Given the description of an element on the screen output the (x, y) to click on. 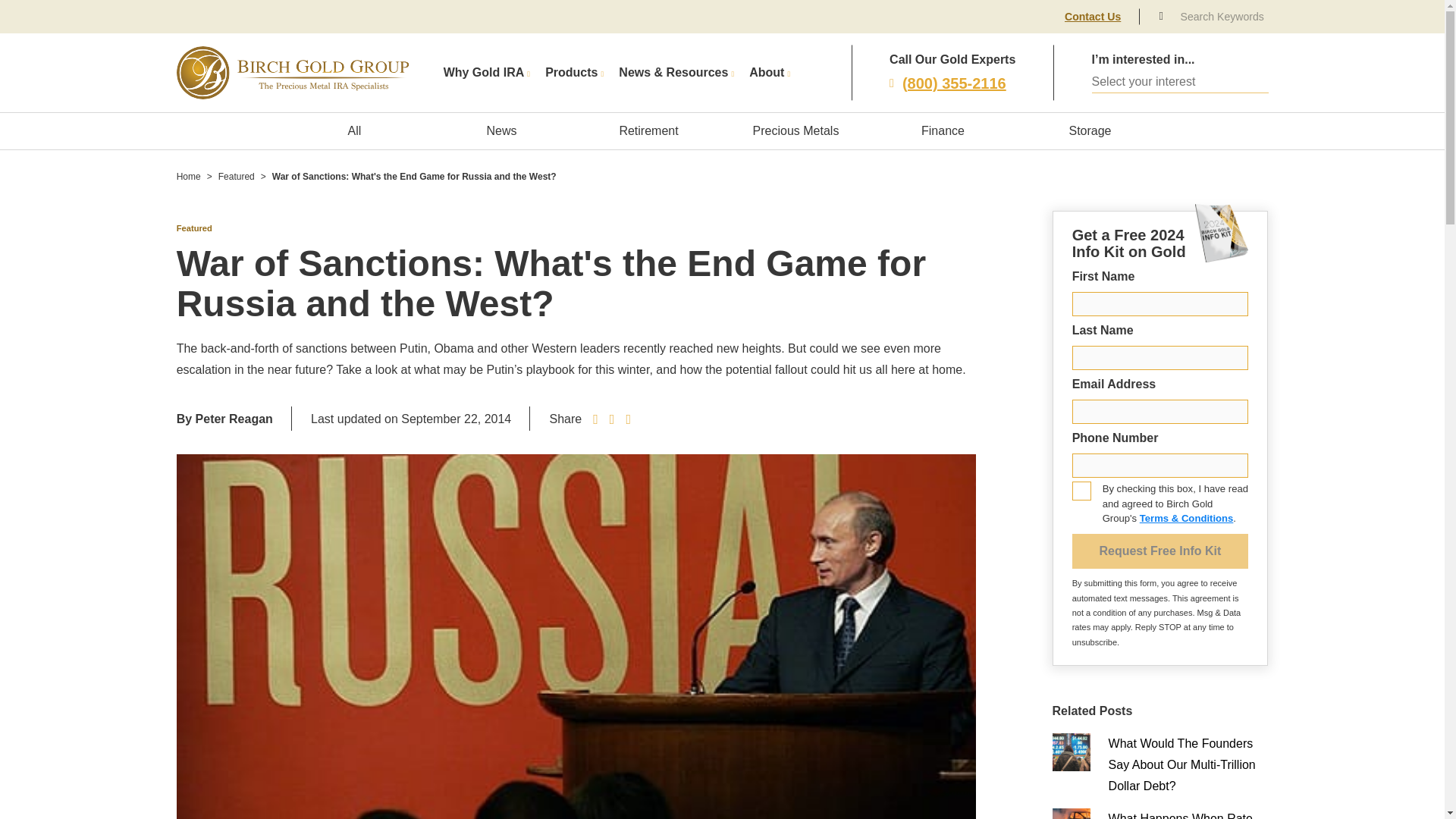
Request Free Info Kit (1160, 550)
